Given the description of an element on the screen output the (x, y) to click on. 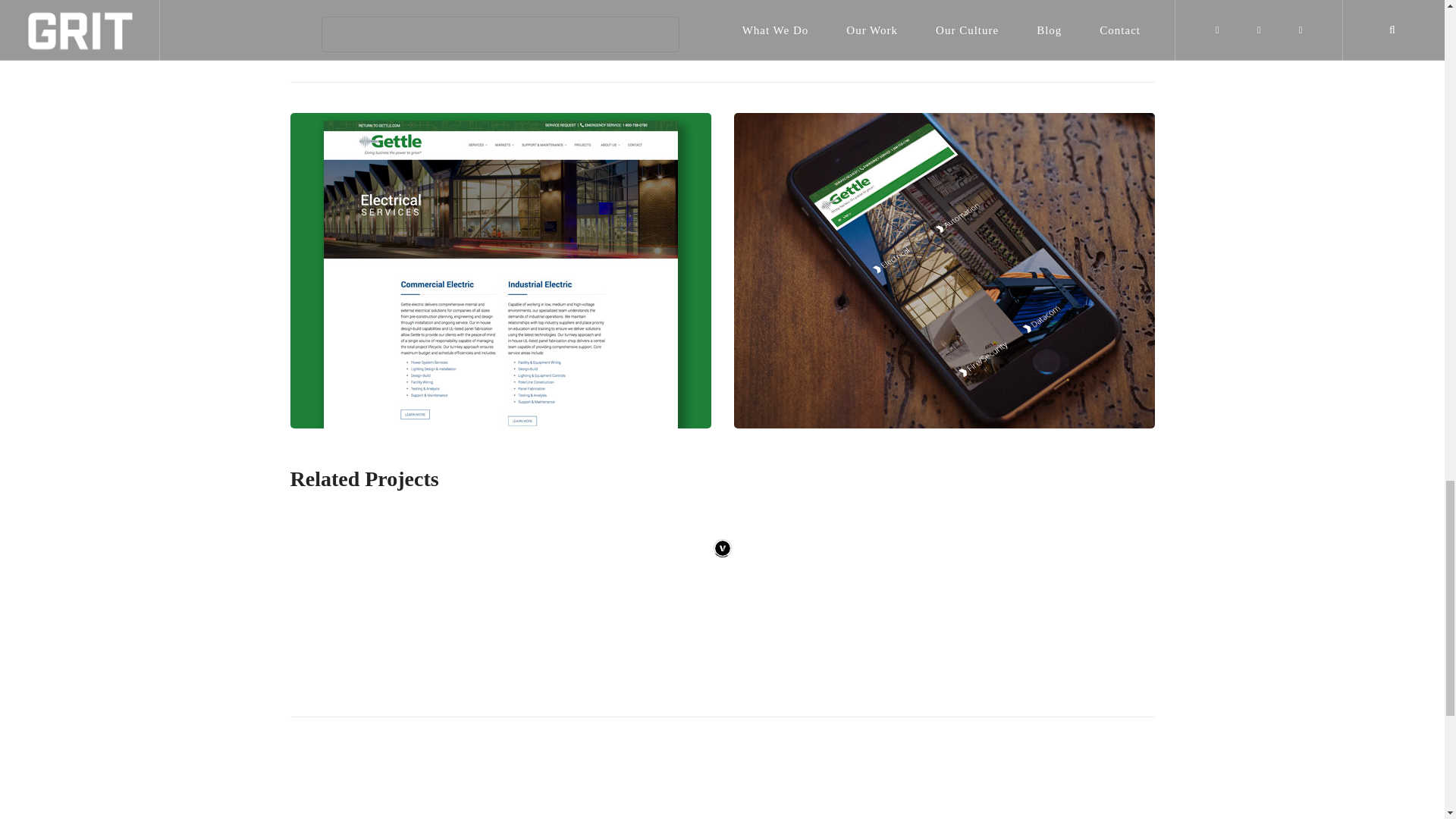
VIEW WEBSITE (500, 34)
